Given the description of an element on the screen output the (x, y) to click on. 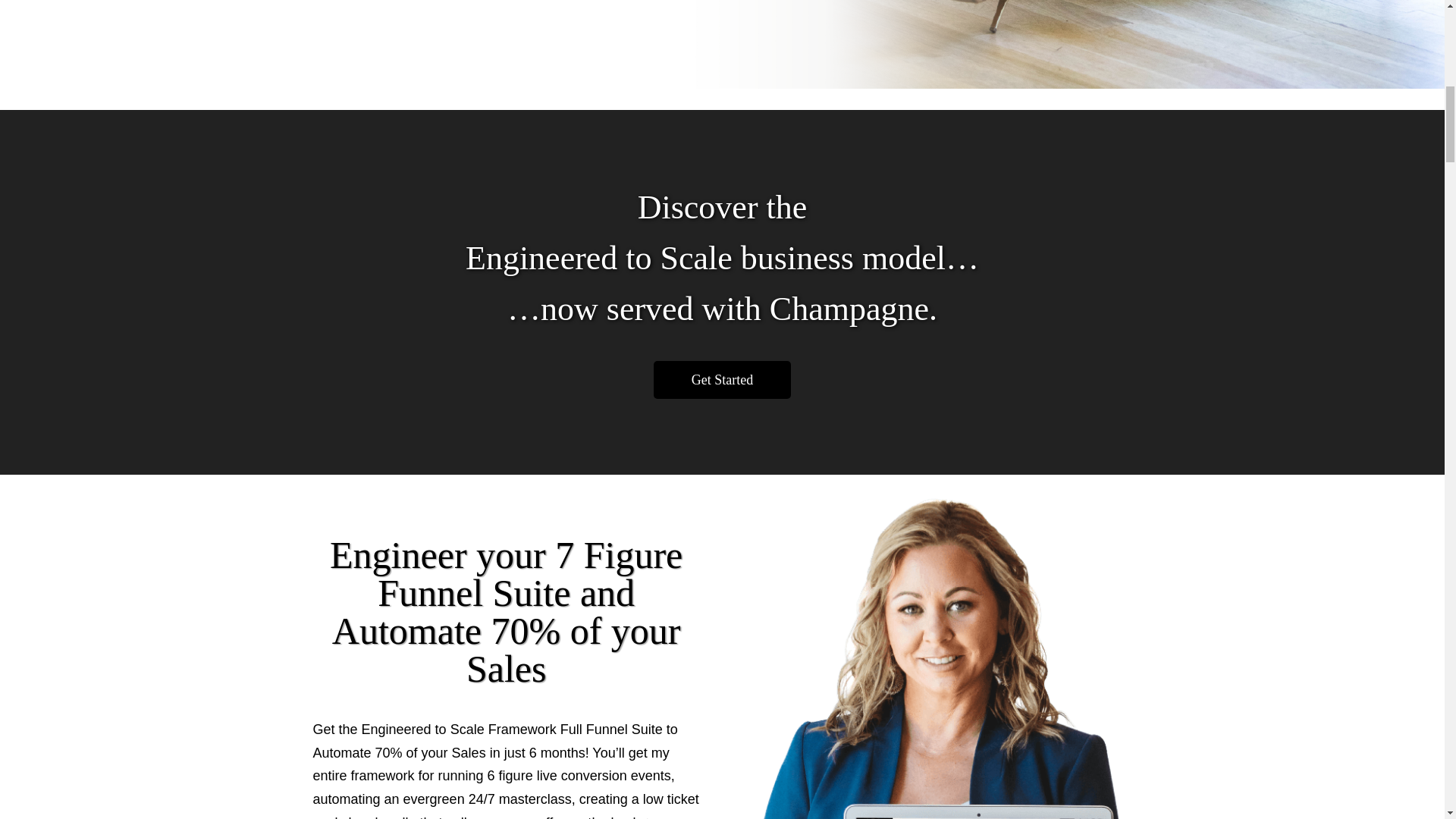
Get Started (721, 380)
Artboard 49 - Melissa Ricker (937, 658)
